Given the description of an element on the screen output the (x, y) to click on. 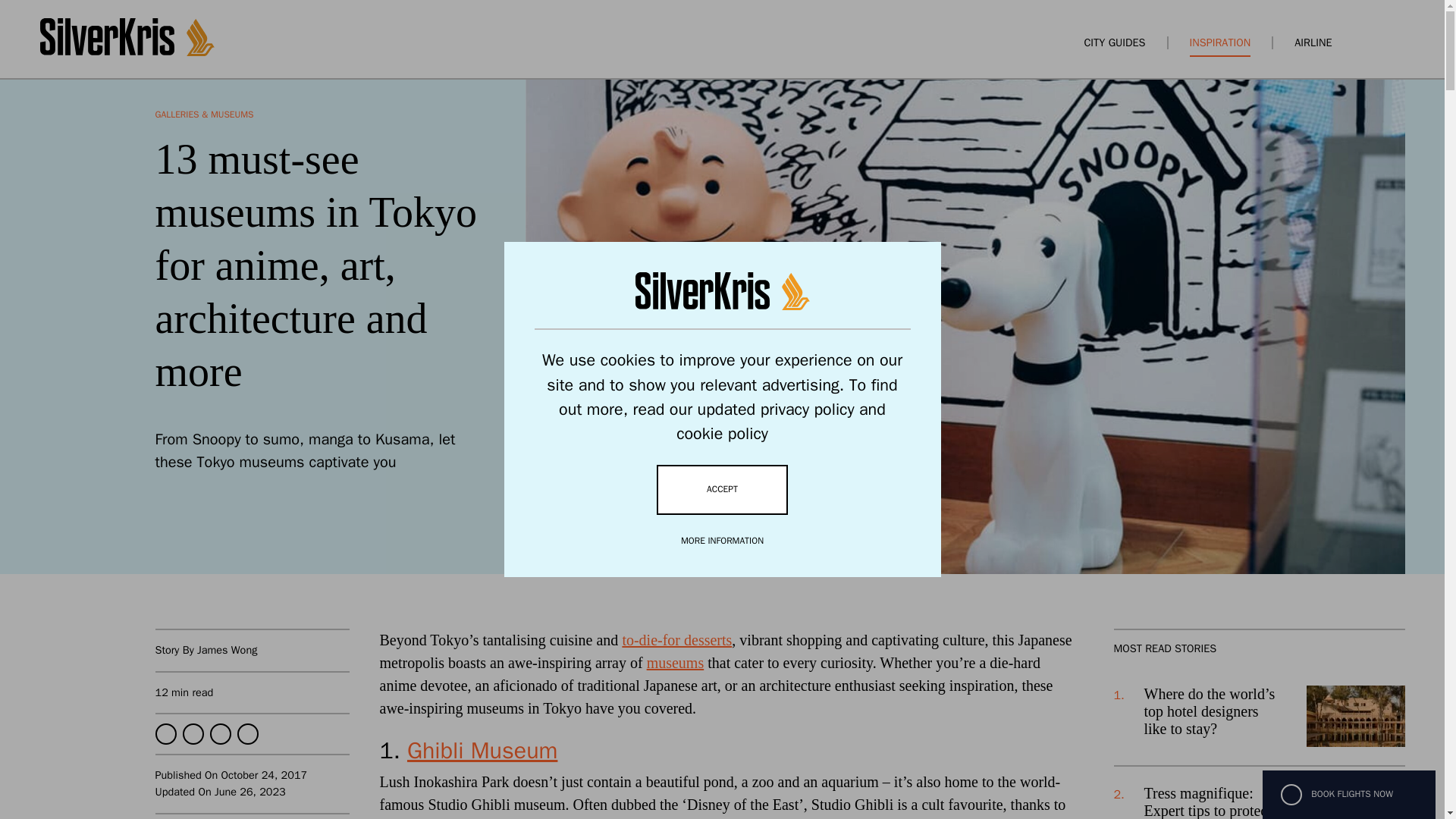
Open Menu (1397, 43)
CITY GUIDES (1113, 42)
Pinterest (246, 733)
INSPIRATION (1219, 42)
to-die-for desserts (676, 639)
Facebook (165, 733)
SilverKris (126, 51)
museums (675, 662)
WhatsApp (219, 733)
Ghibli Museum (482, 750)
Twitter (192, 733)
AIRLINE (1313, 42)
Open Search (1369, 43)
James Wong (226, 649)
